Given the description of an element on the screen output the (x, y) to click on. 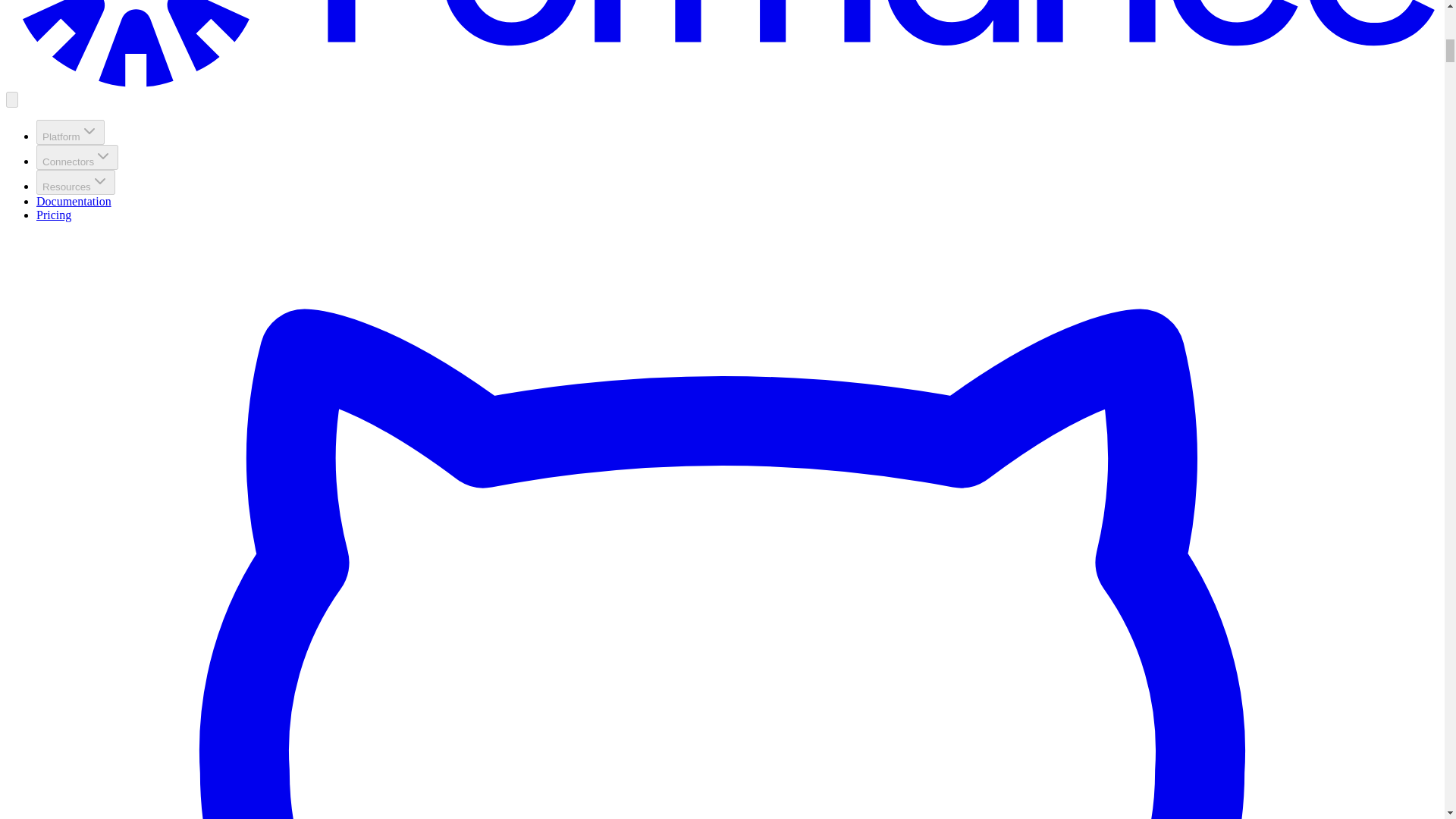
Resources (75, 181)
Platform (70, 131)
Pricing (53, 214)
Connectors (76, 156)
Documentation (74, 201)
